Given the description of an element on the screen output the (x, y) to click on. 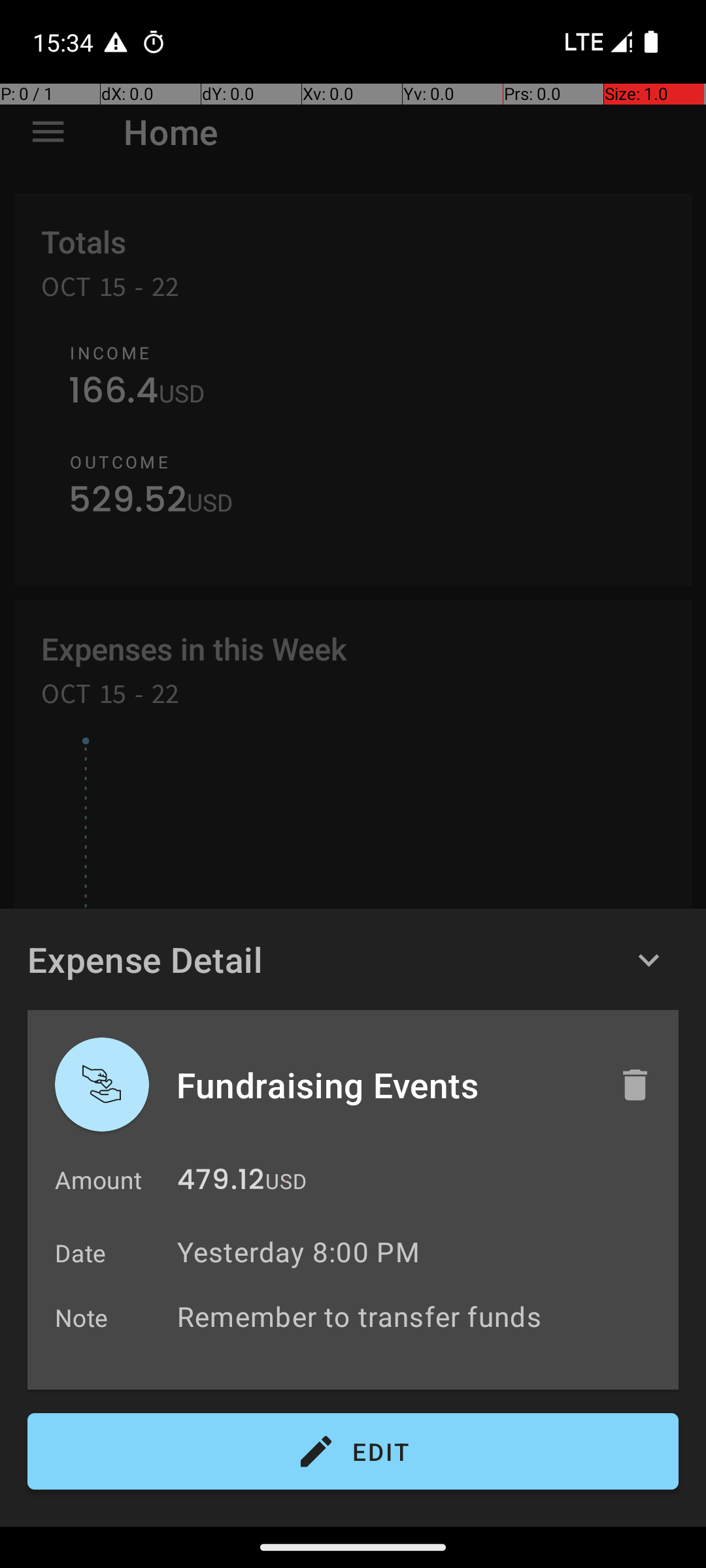
Fundraising Events Element type: android.widget.TextView (383, 1084)
479.12 Element type: android.widget.TextView (220, 1182)
Yesterday 8:00 PM Element type: android.widget.TextView (298, 1251)
